Given the description of an element on the screen output the (x, y) to click on. 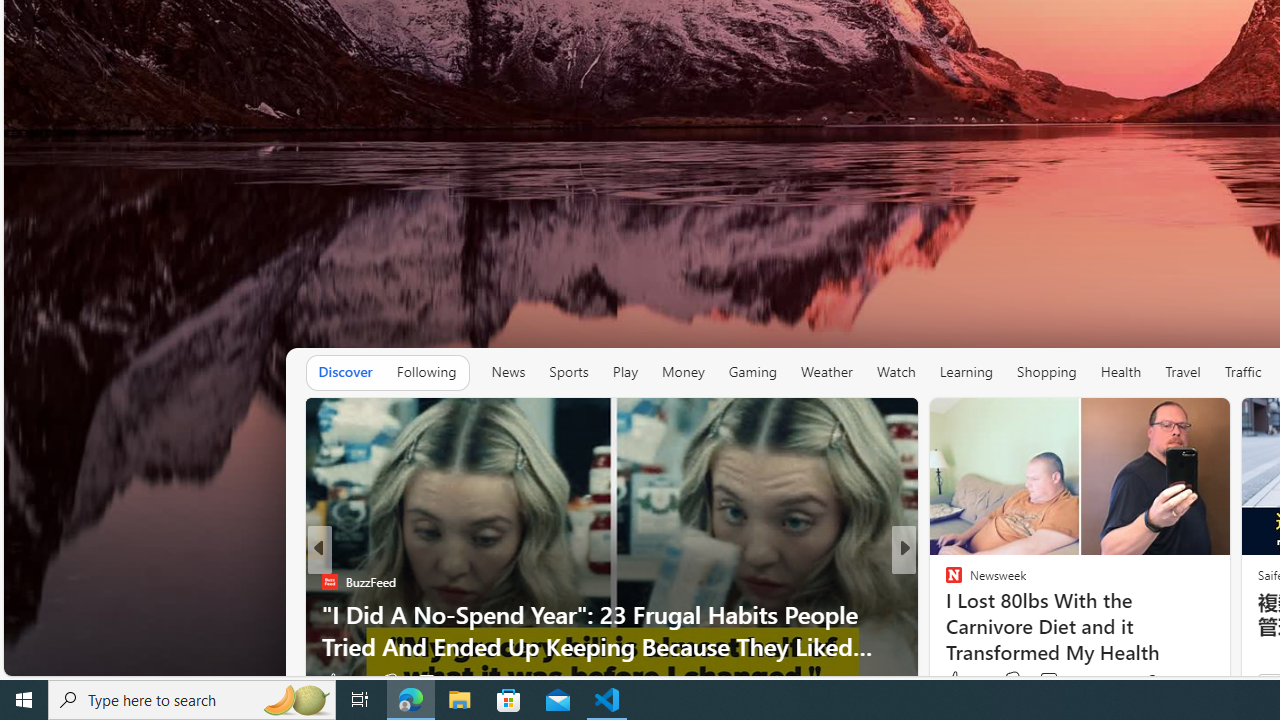
View comments 30 Comment (1042, 681)
Simply Recipes (329, 581)
186 Like (959, 681)
View comments 11 Comment (1042, 681)
365 Like (959, 681)
BGR (944, 581)
57 Like (956, 681)
View comments 73 Comment (1048, 679)
